Given the description of an element on the screen output the (x, y) to click on. 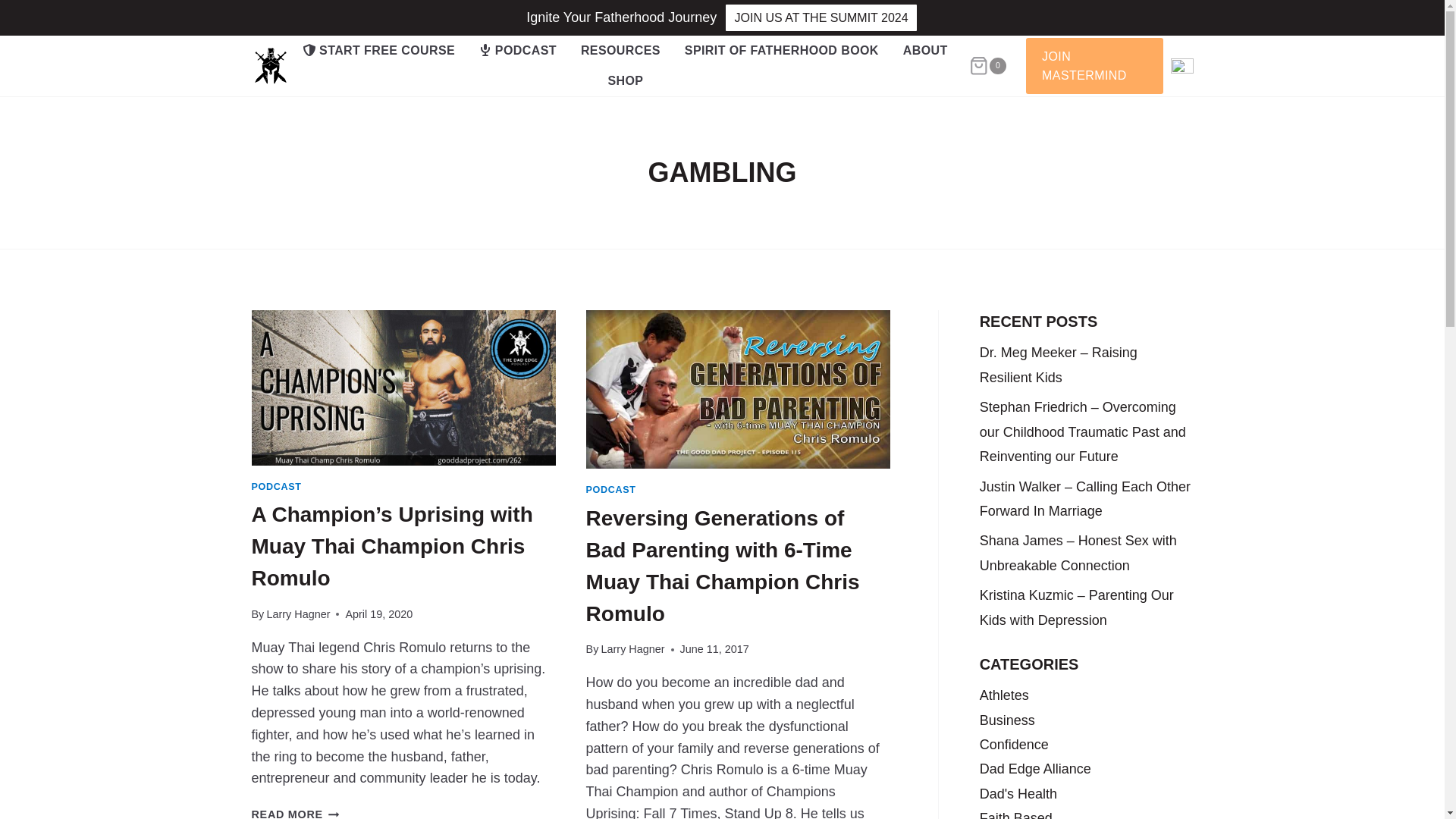
SHOP (625, 81)
Business (1007, 720)
PODCAST (518, 51)
Athletes (1004, 694)
Dad Edge Alliance (1034, 768)
PODCAST (276, 486)
PODCAST (611, 489)
START FREE COURSE (379, 51)
Faith Based (1015, 814)
SPIRIT OF FATHERHOOD BOOK (781, 51)
0 (987, 66)
Confidence (1013, 744)
Dad's Health (1018, 793)
Larry Hagner (633, 648)
